Given the description of an element on the screen output the (x, y) to click on. 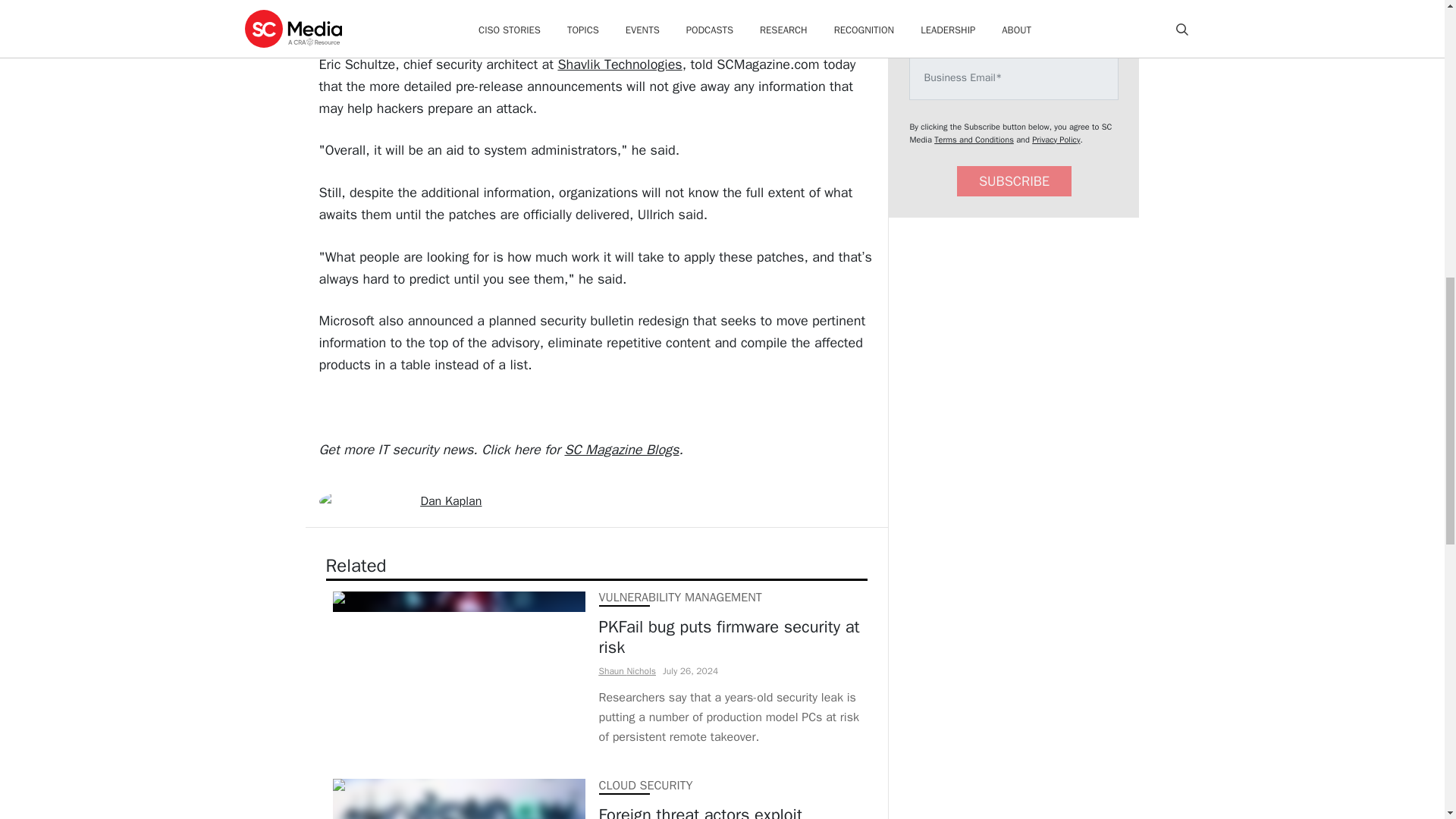
PKFail bug puts firmware security at risk (729, 637)
Shaun Nichols (627, 671)
Terms and Conditions (973, 139)
Dan Kaplan (450, 500)
CLOUD SECURITY (645, 785)
Foreign threat actors exploit ServiceNow bugs (729, 812)
Privacy Policy (1056, 139)
Shavlik Technologies (619, 64)
SUBSCRIBE (1013, 181)
VULNERABILITY MANAGEMENT (679, 597)
SC Magazine Blogs (621, 449)
